Given the description of an element on the screen output the (x, y) to click on. 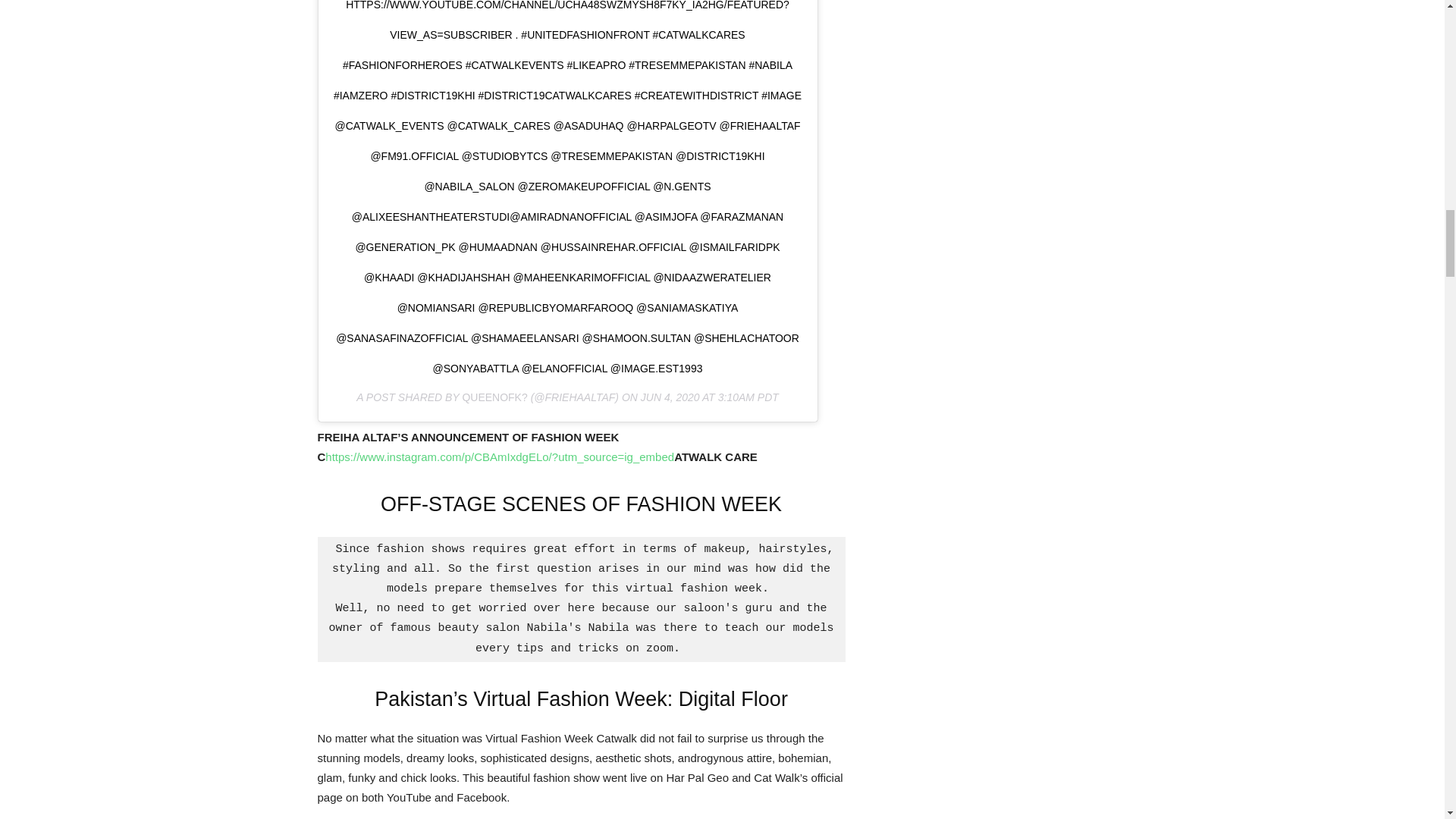
QUEENOFK? (494, 397)
